Given the description of an element on the screen output the (x, y) to click on. 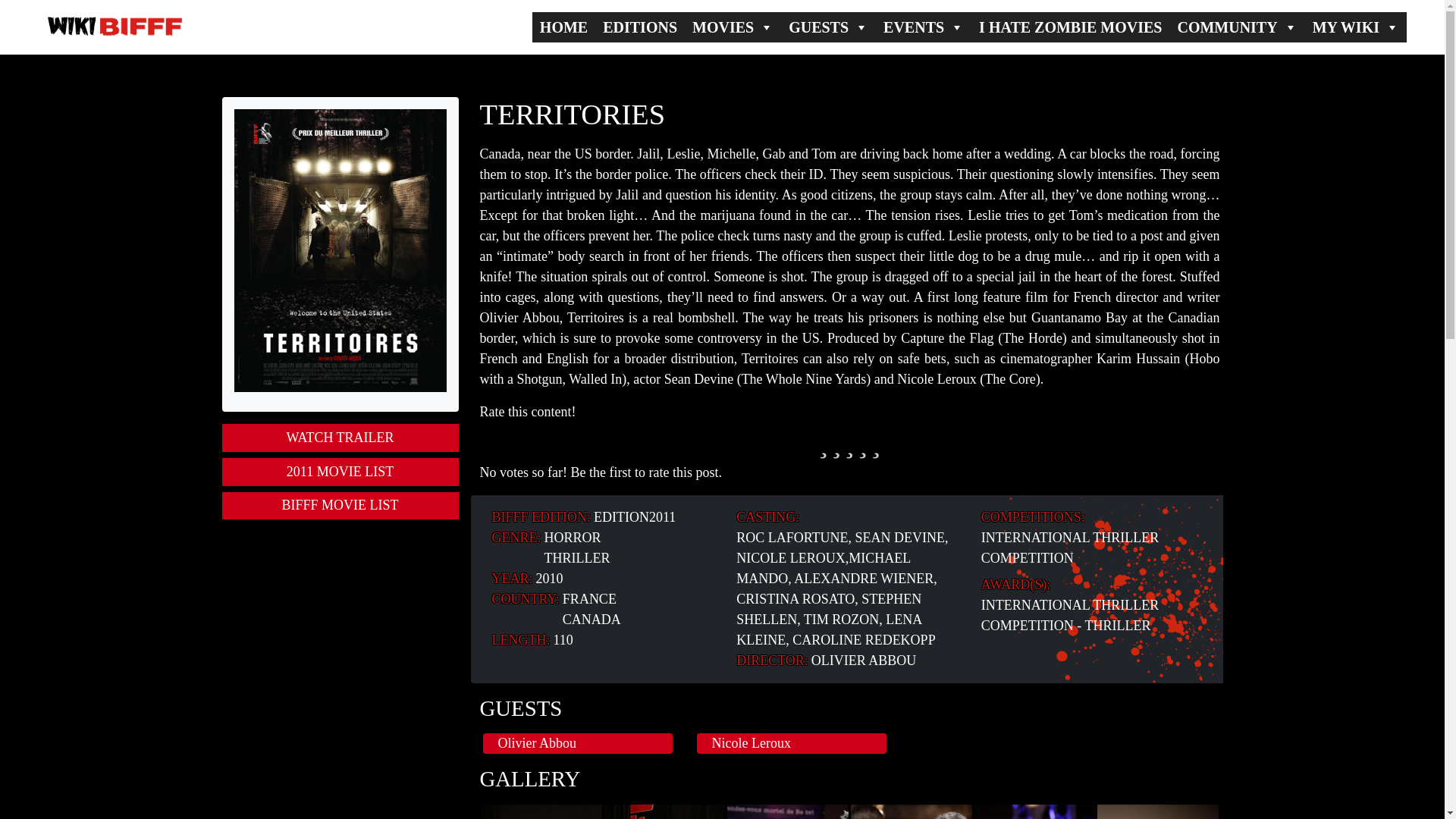
MY WIKI (1355, 27)
COMMUNITY (1236, 27)
2011 MOVIE LIST (339, 471)
GUESTS (828, 27)
EVENTS (923, 27)
THRILLER (577, 557)
EDITIONS (639, 27)
MOVIES (732, 27)
HORROR (572, 537)
EDITION2011 (634, 516)
I HATE ZOMBIE MOVIES (1070, 27)
WATCH TRAILER (339, 438)
BIFFF MOVIE LIST (339, 506)
HOME (563, 27)
